Given the description of an element on the screen output the (x, y) to click on. 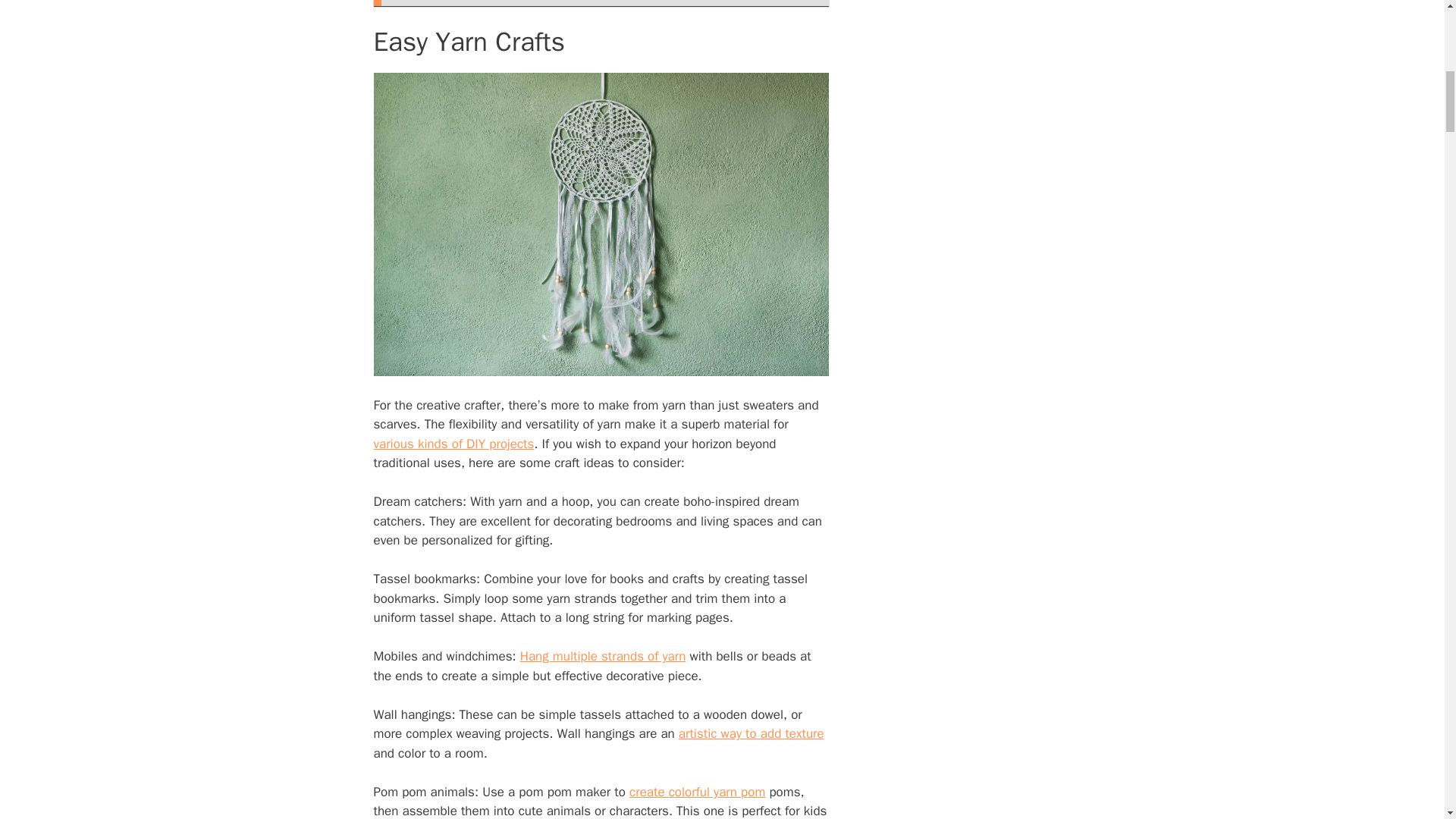
Hang multiple strands of yarn (602, 656)
create colorful yarn pom (696, 791)
artistic way to add texture (751, 733)
various kinds of DIY projects (453, 443)
